Given the description of an element on the screen output the (x, y) to click on. 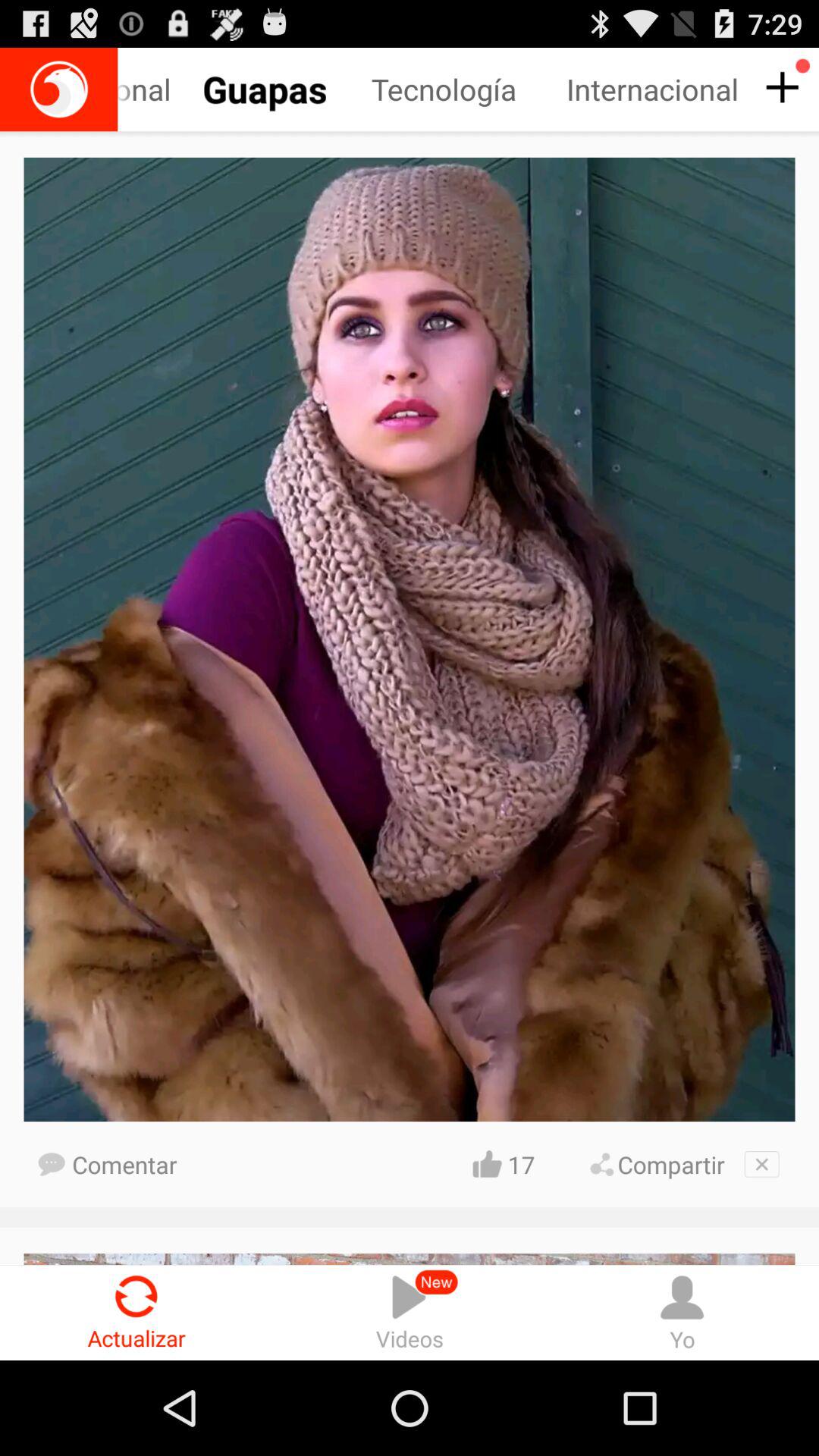
home (58, 89)
